Given the description of an element on the screen output the (x, y) to click on. 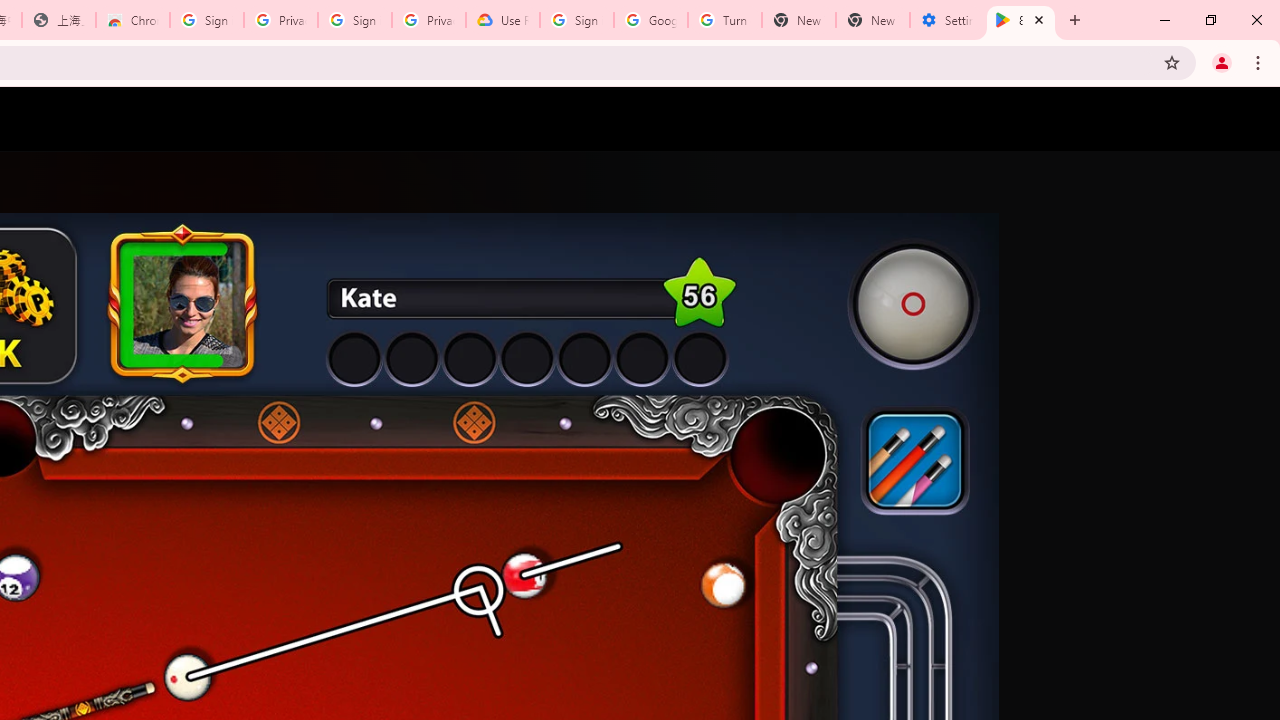
Settings - System (947, 20)
Sign in - Google Accounts (354, 20)
Sign in - Google Accounts (207, 20)
8 Ball Pool - Apps on Google Play (1021, 20)
New Tab (872, 20)
